Given the description of an element on the screen output the (x, y) to click on. 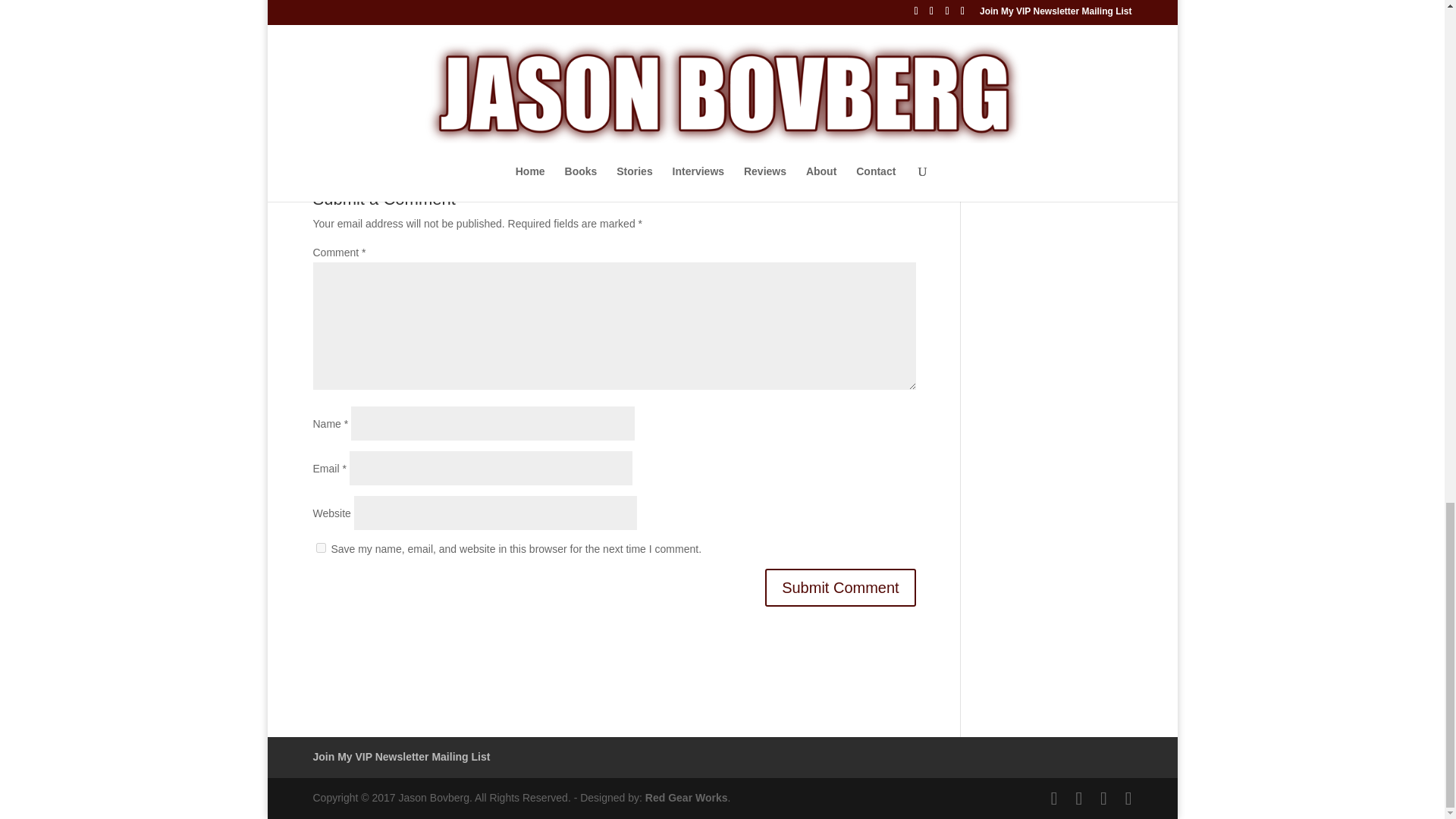
Loser Baby (398, 82)
Submit Comment (840, 587)
Submit Comment (840, 587)
Tessa Goes Down (539, 82)
yes (319, 547)
